Given the description of an element on the screen output the (x, y) to click on. 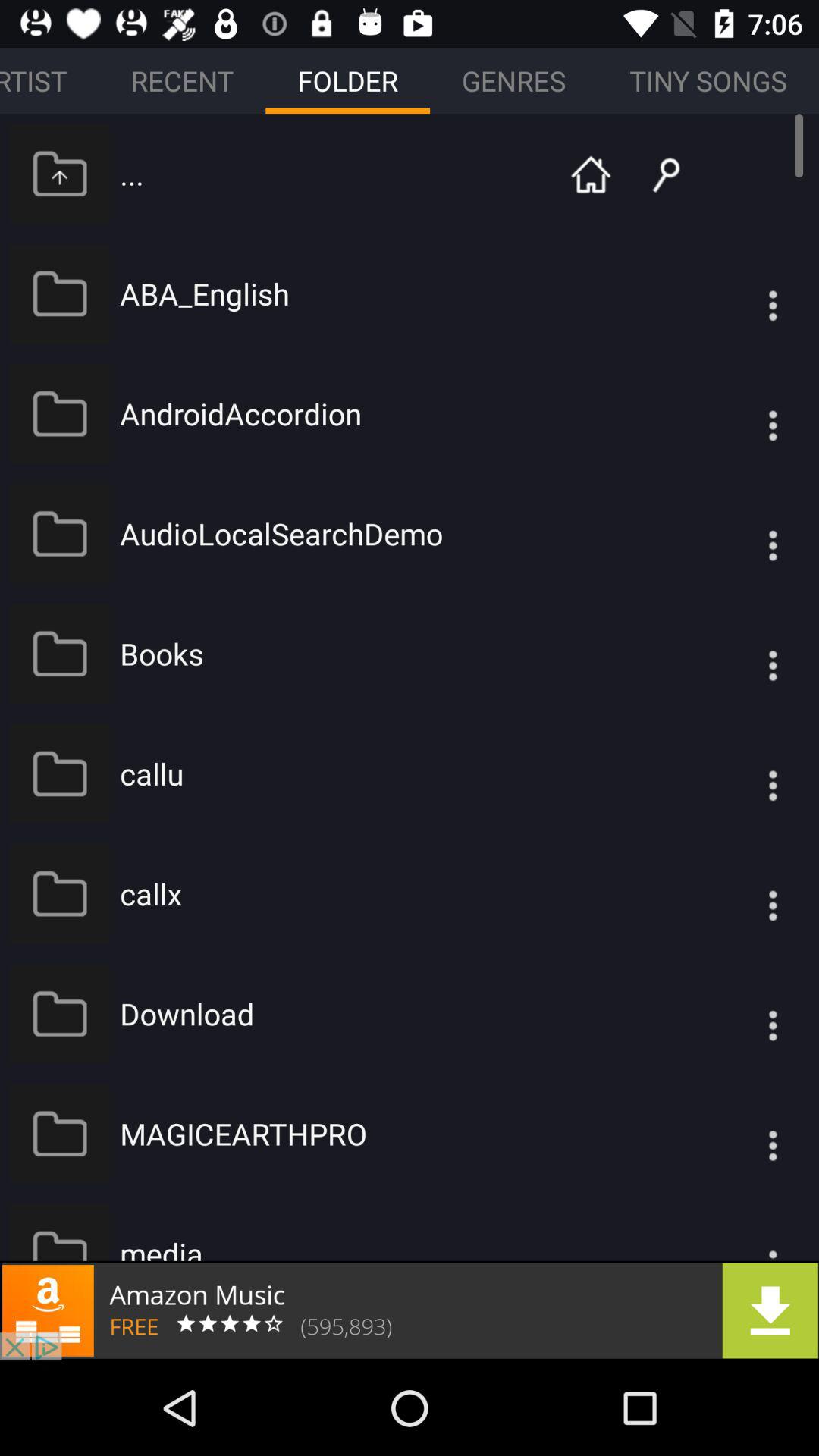
open folder options (742, 1133)
